Given the description of an element on the screen output the (x, y) to click on. 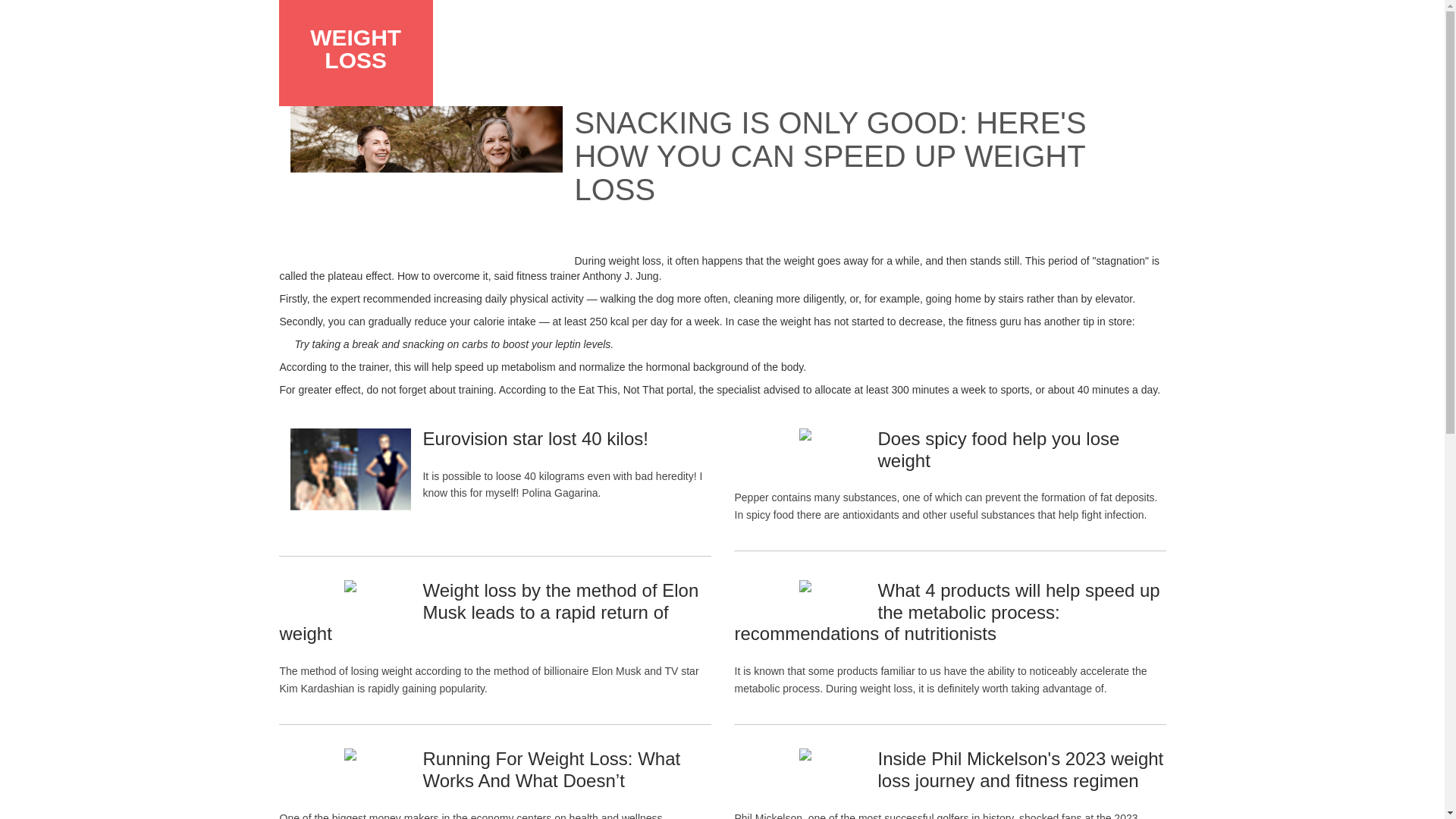
Does spicy food help you lose weight (998, 449)
Eurovision star lost 40 kilos! (534, 438)
